Given the description of an element on the screen output the (x, y) to click on. 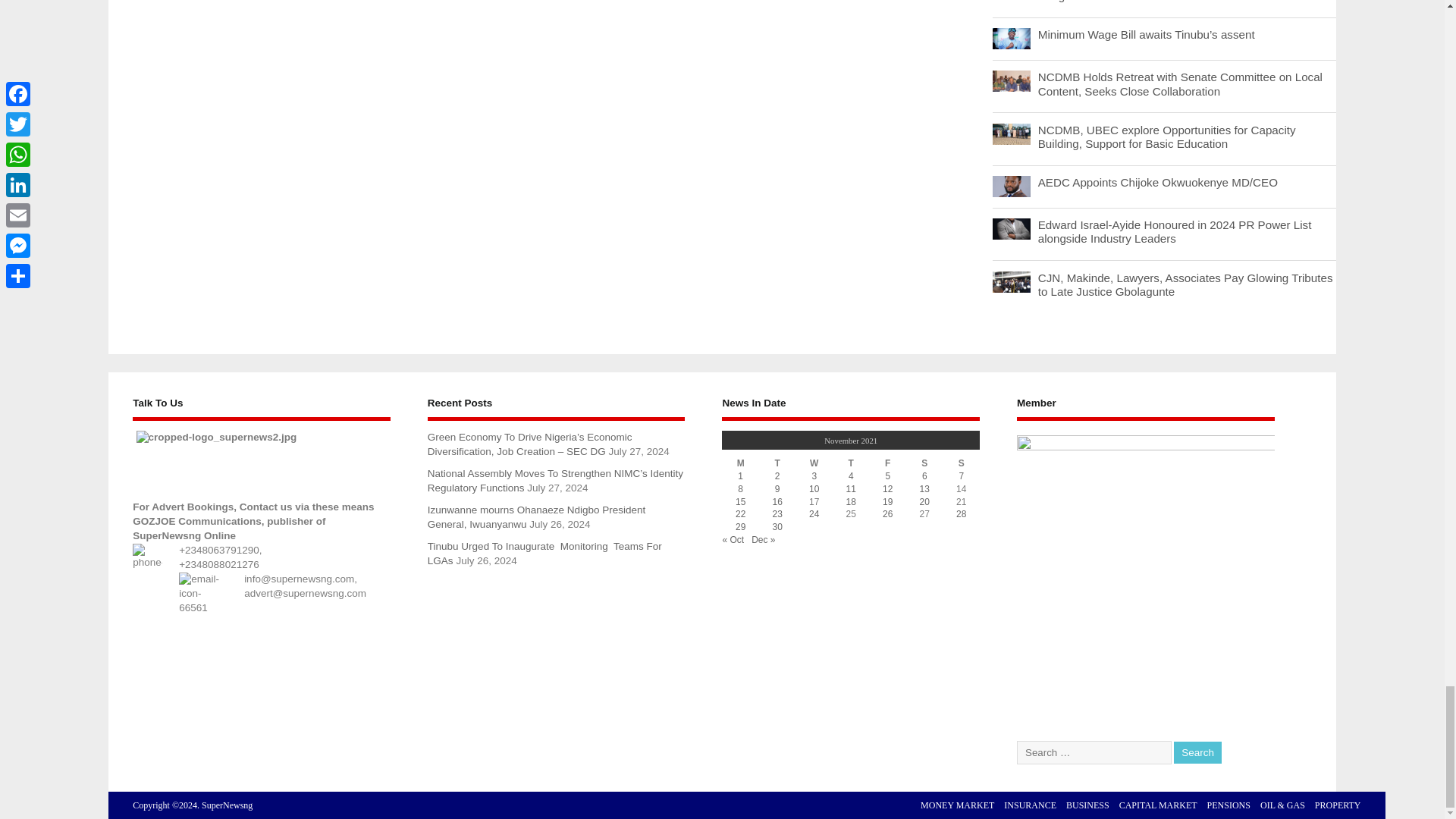
Search (1197, 752)
Search (1197, 752)
